Given the description of an element on the screen output the (x, y) to click on. 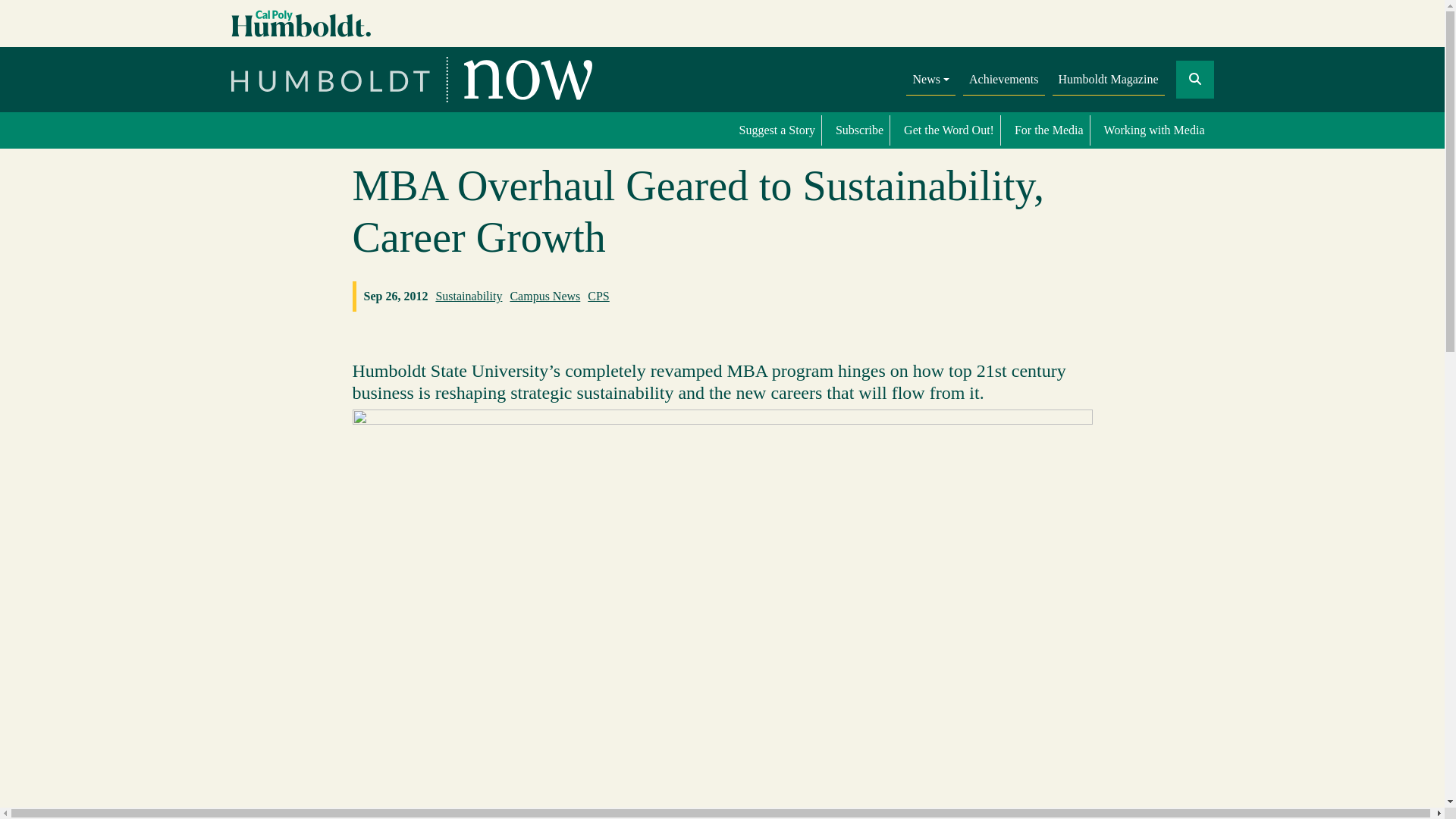
Go (1208, 122)
Working with Media (1154, 130)
Expand menu News (930, 79)
GO (1193, 79)
Get the Word Out! (949, 130)
For the Media (1049, 130)
Achievements (1003, 79)
Home (411, 79)
News (930, 79)
Campus News (544, 295)
